Given the description of an element on the screen output the (x, y) to click on. 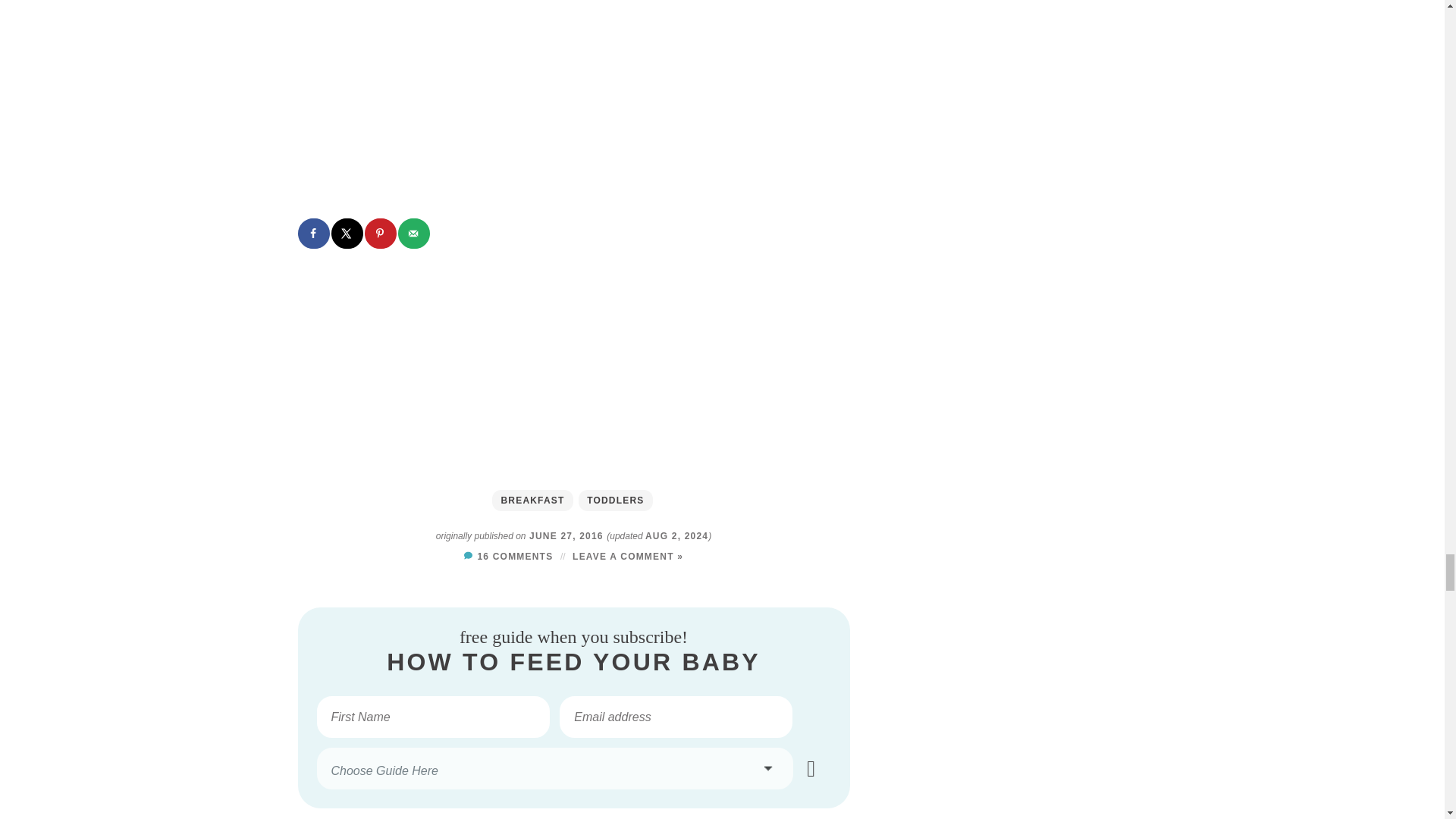
Save to Pinterest (380, 233)
Share on Facebook (313, 233)
Send over email (413, 233)
Share on X (346, 233)
